Given the description of an element on the screen output the (x, y) to click on. 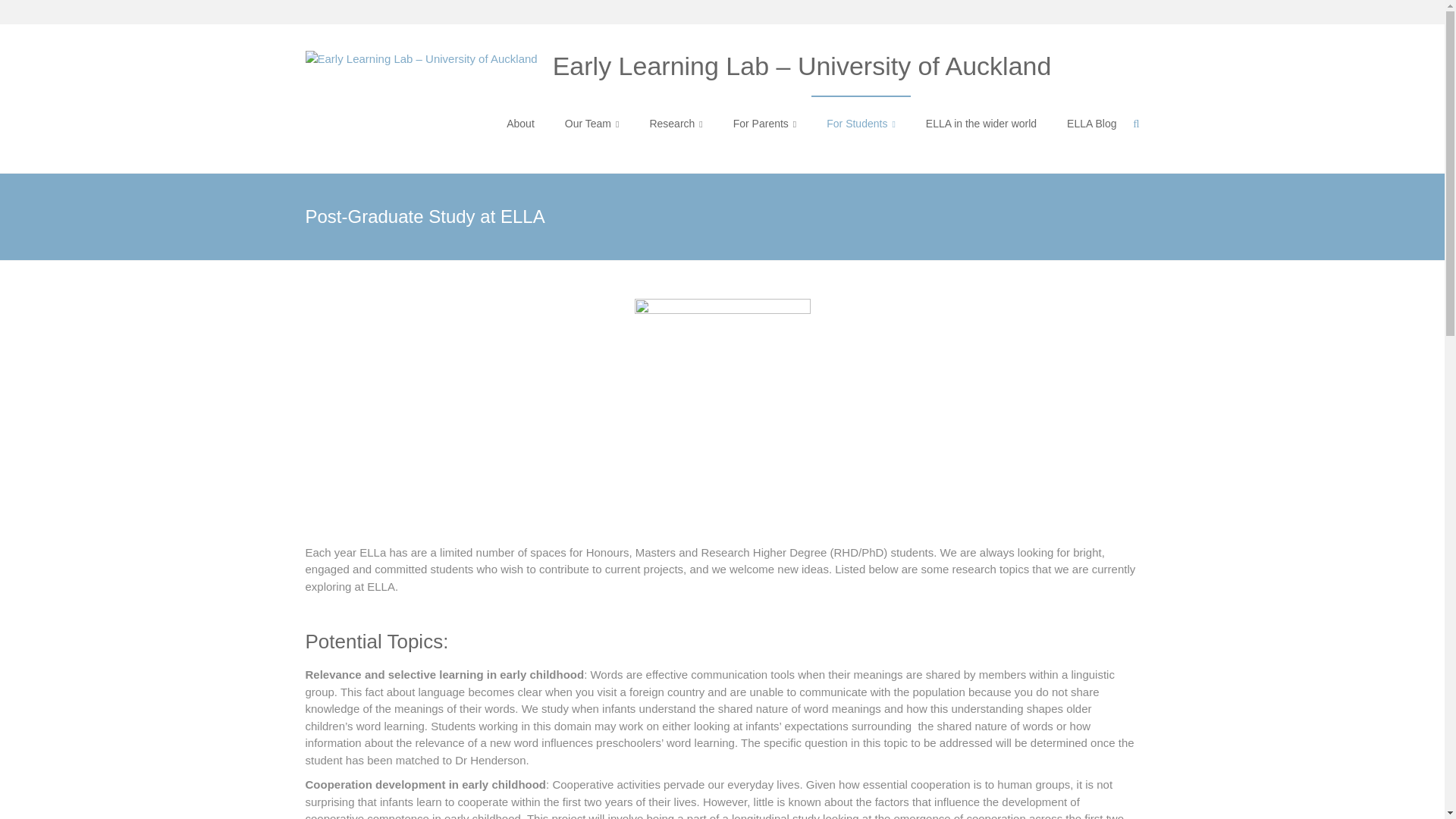
Research (675, 123)
For Parents (764, 123)
ELLA Blog (1091, 123)
Our Team (592, 123)
For Students (861, 123)
ELLA in the wider world (981, 123)
